Given the description of an element on the screen output the (x, y) to click on. 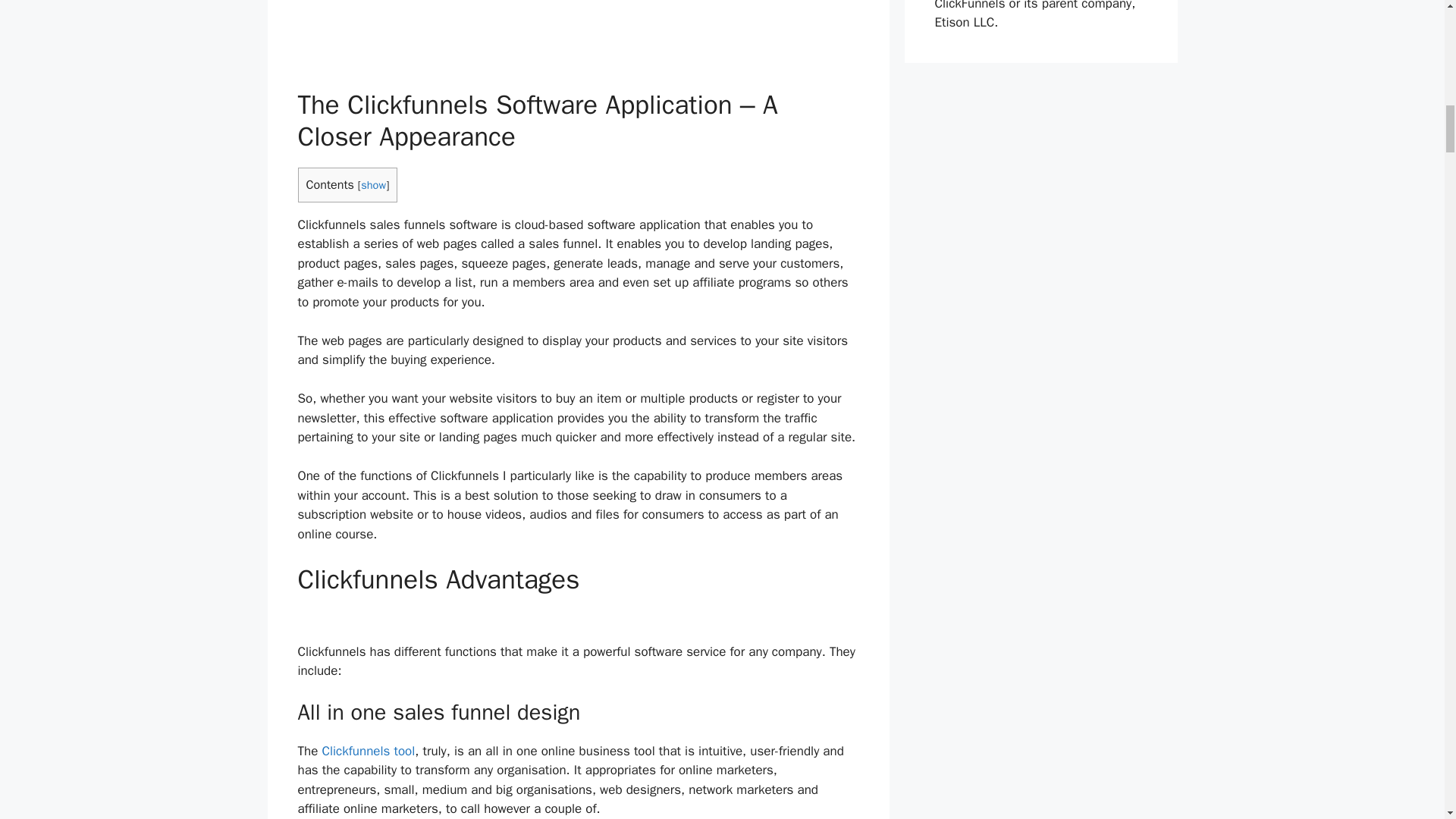
show (373, 184)
Clickfunnels tool (367, 750)
